Given the description of an element on the screen output the (x, y) to click on. 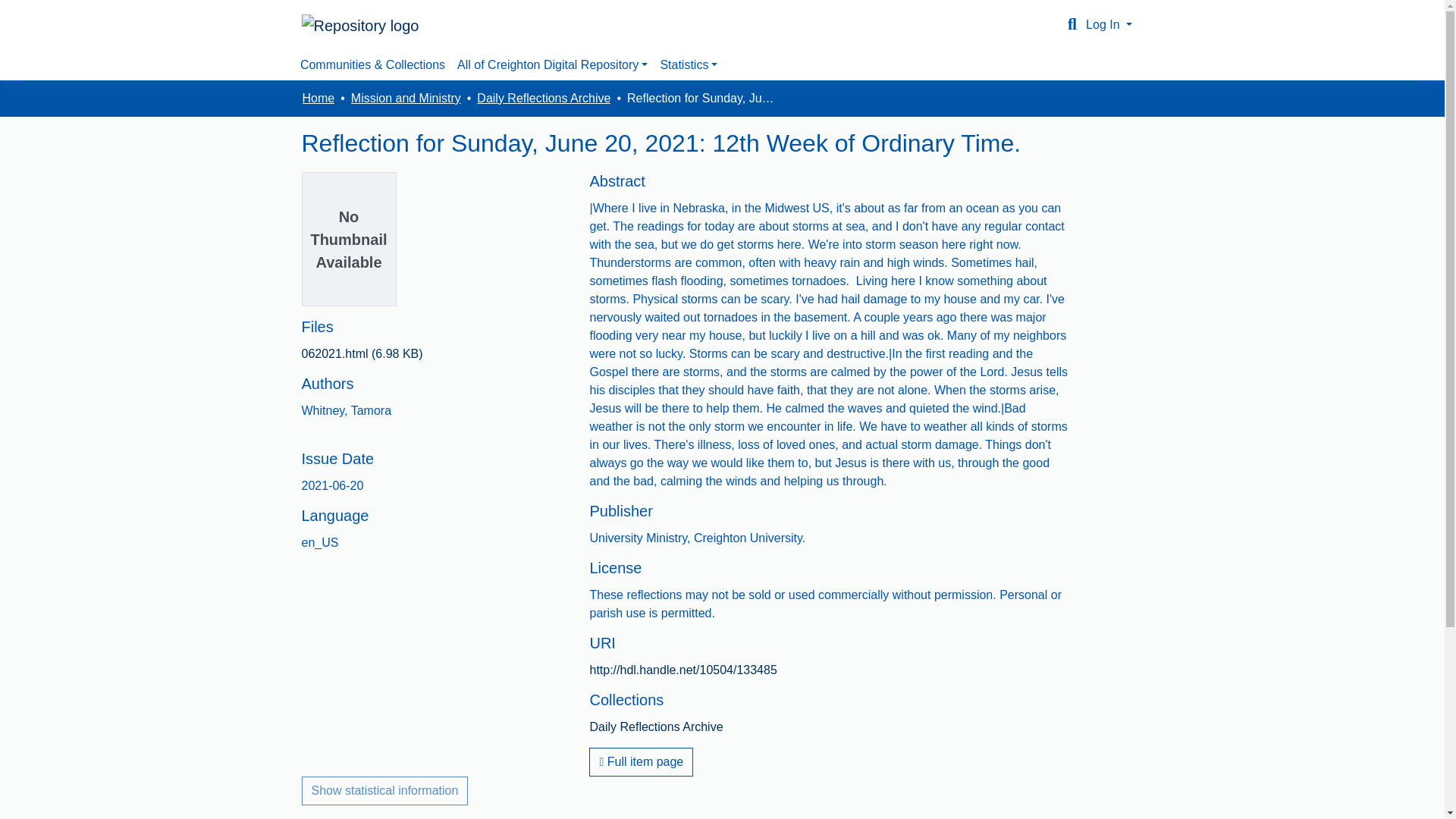
Show statistical information (384, 790)
Log In (1108, 24)
Home (317, 98)
Search (1072, 24)
All of Creighton Digital Repository (552, 64)
Mission and Ministry (405, 98)
Daily Reflections Archive (543, 98)
Daily Reflections Archive (655, 726)
Statistics (688, 64)
Full item page (641, 761)
